Given the description of an element on the screen output the (x, y) to click on. 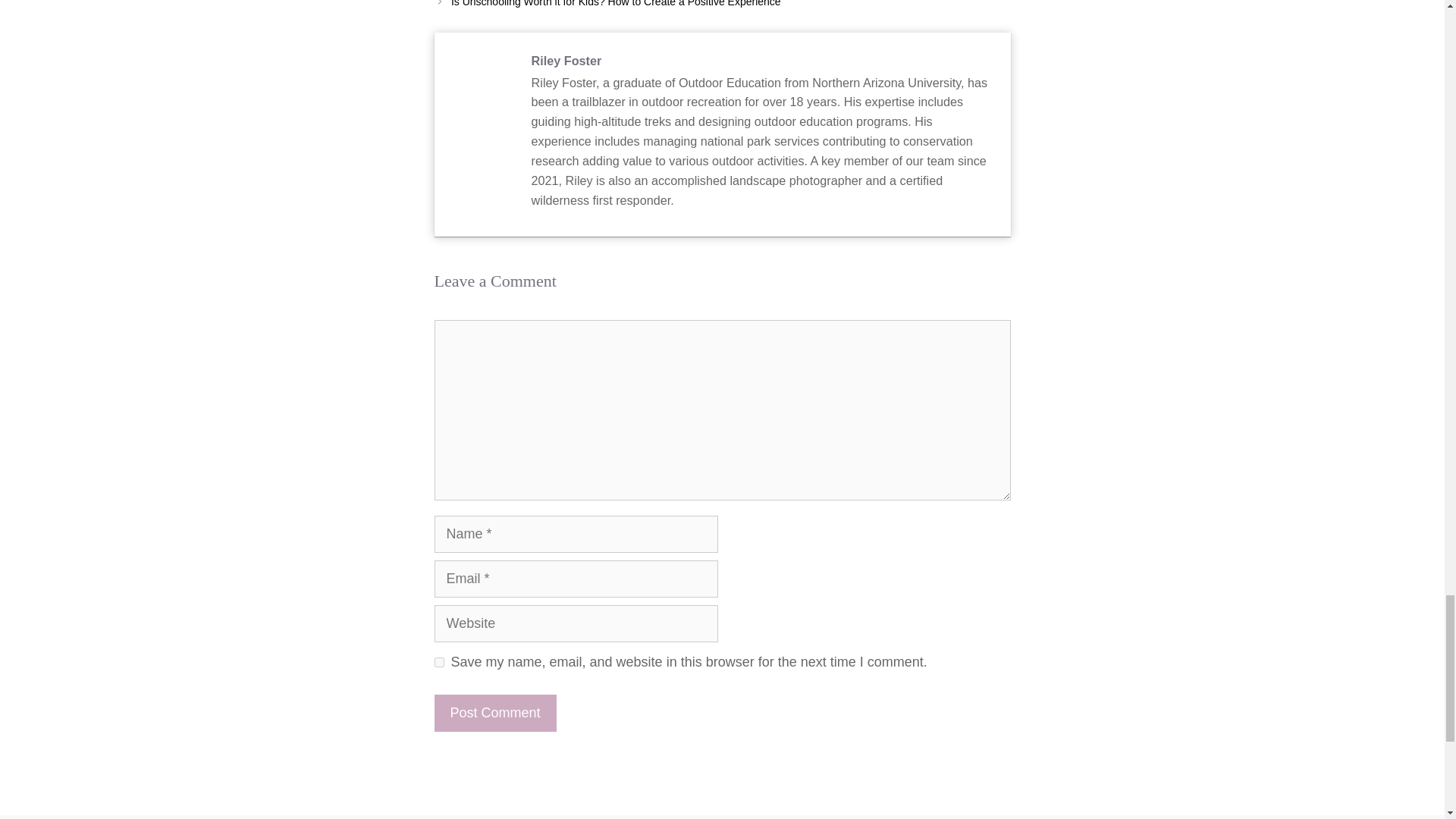
Post Comment (494, 713)
yes (438, 662)
